Given the description of an element on the screen output the (x, y) to click on. 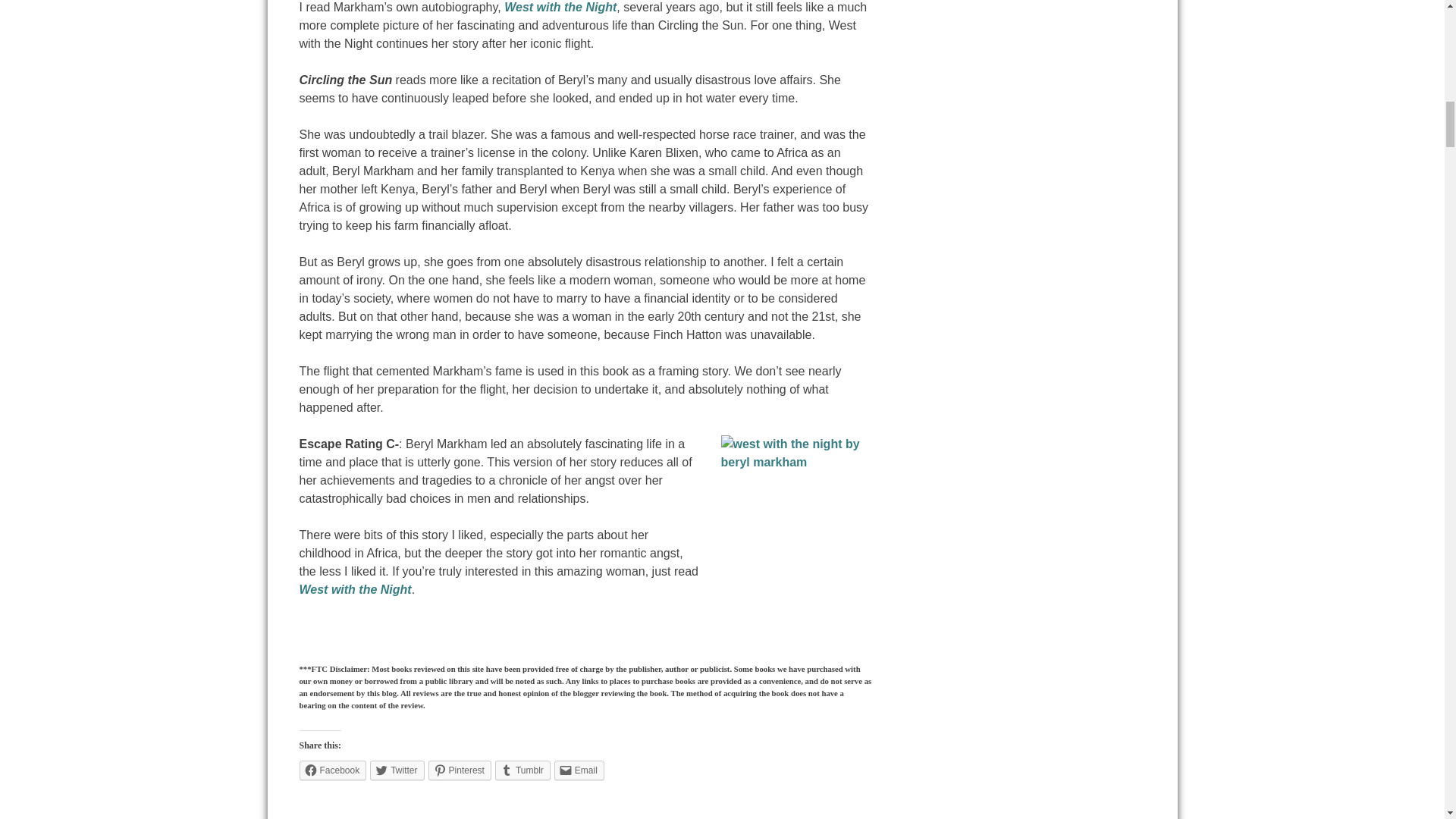
Pinterest (460, 770)
West with the Night (354, 589)
Email (579, 770)
Twitter (396, 770)
Click to share on Pinterest (460, 770)
Click to share on Tumblr (522, 770)
West with the Night (559, 6)
Click to share on Facebook (332, 770)
Tumblr (522, 770)
Click to email a link to a friend (579, 770)
Facebook (332, 770)
Click to share on Twitter (396, 770)
